Given the description of an element on the screen output the (x, y) to click on. 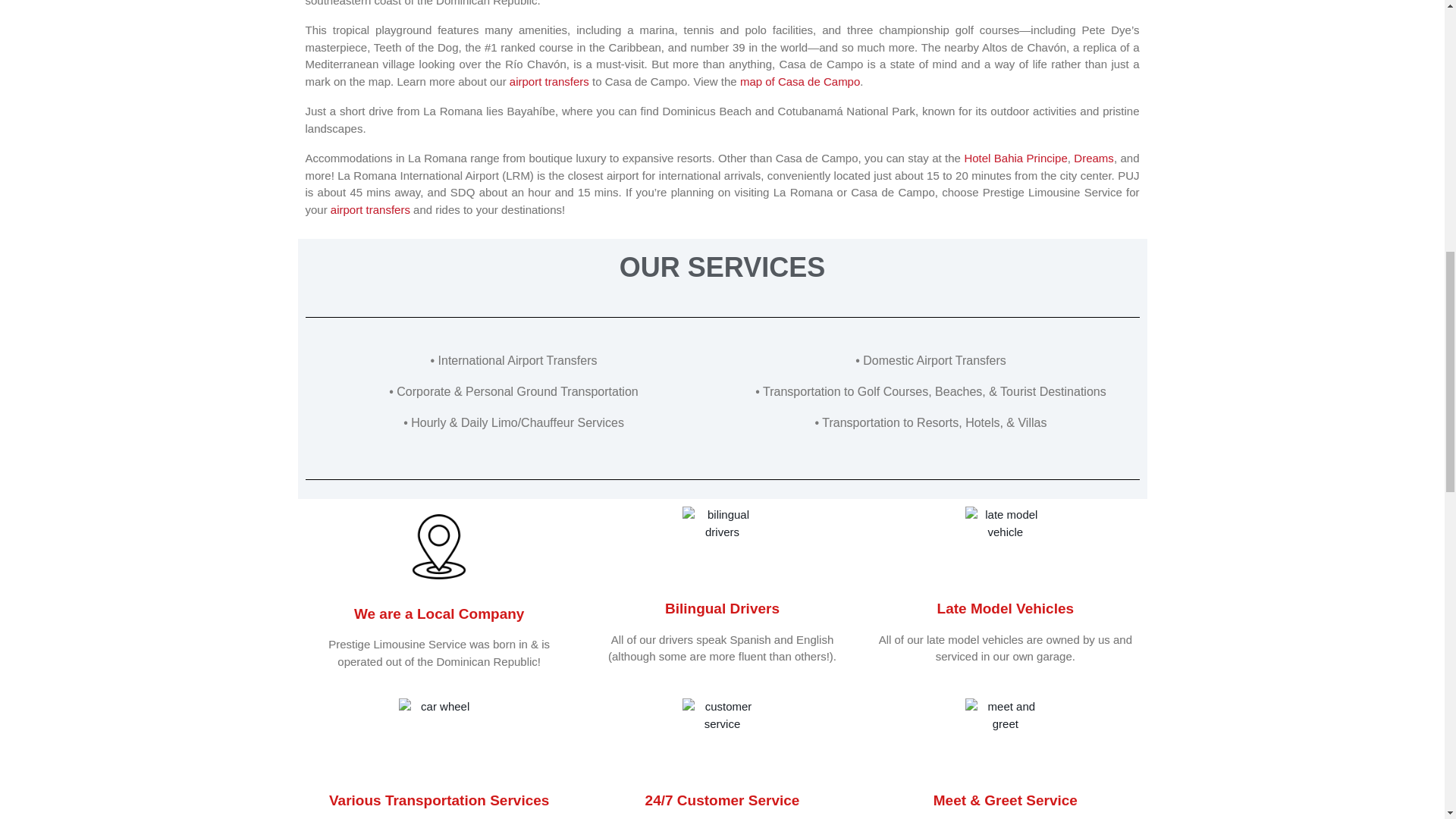
Hotel Bahia Principe (1015, 157)
airport transfers (371, 209)
Dreams (1093, 157)
airport transfers (549, 81)
map of Casa de Campo (799, 81)
